Given the description of an element on the screen output the (x, y) to click on. 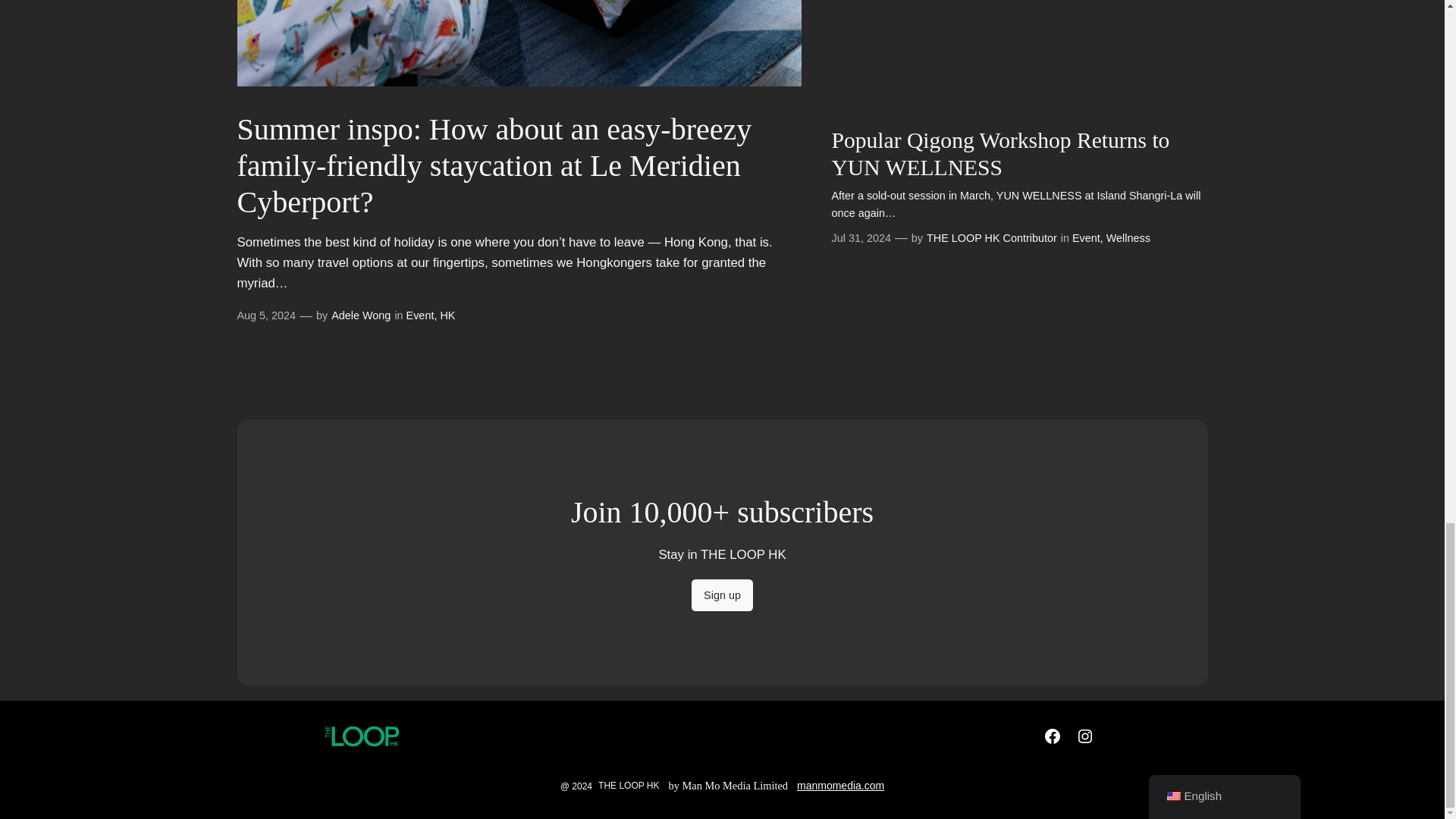
Popular Qigong Workshop Returns to YUN WELLNESS (1019, 153)
Event (1085, 237)
Adele Wong (360, 315)
Facebook (1052, 736)
HK (446, 315)
Wellness (1128, 237)
Sign up (721, 594)
THE LOOP HK Contributor (991, 237)
Jul 31, 2024 (860, 237)
Event (419, 315)
Aug 5, 2024 (265, 315)
